Given the description of an element on the screen output the (x, y) to click on. 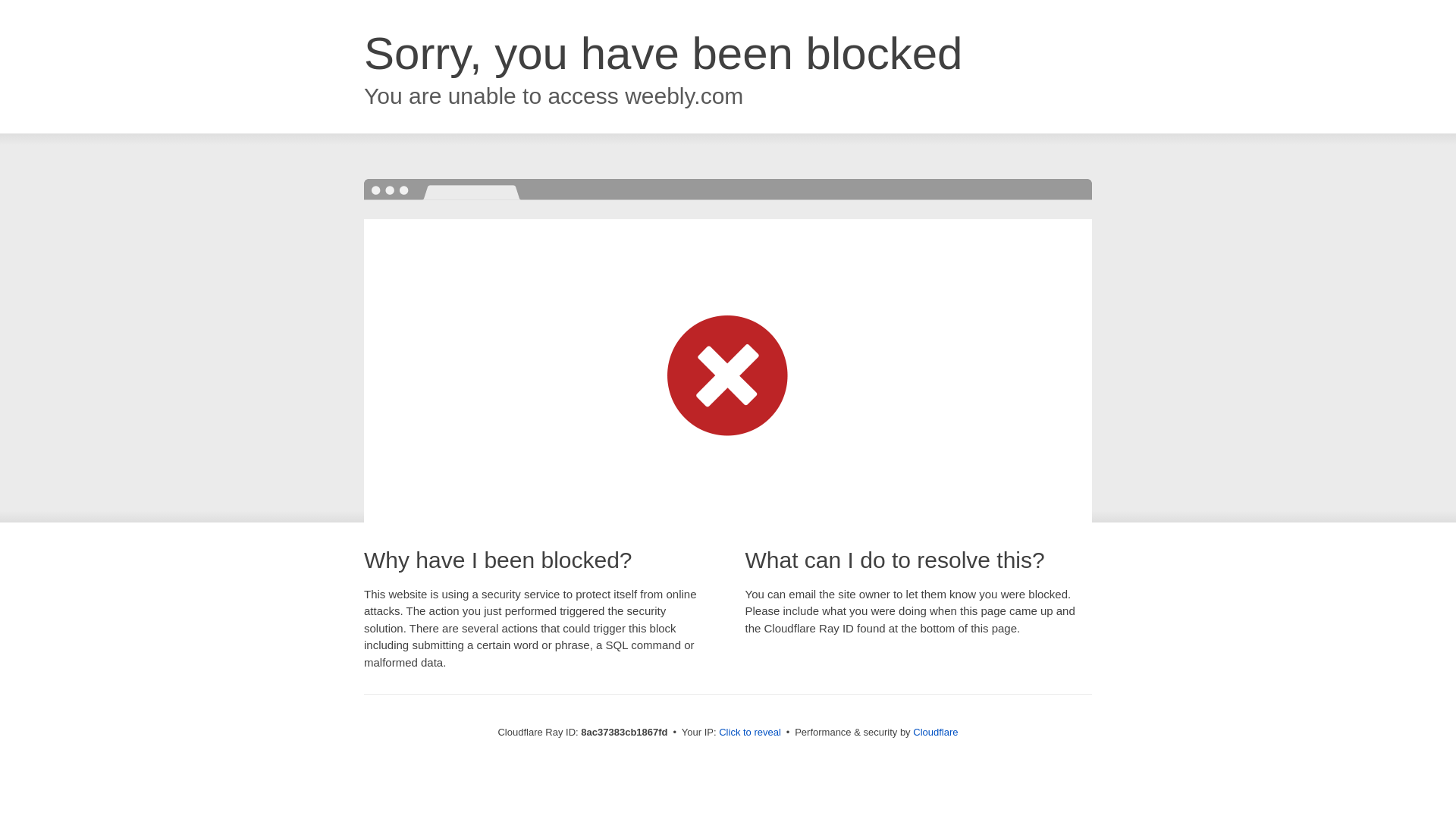
Cloudflare (935, 731)
Click to reveal (749, 732)
